Given the description of an element on the screen output the (x, y) to click on. 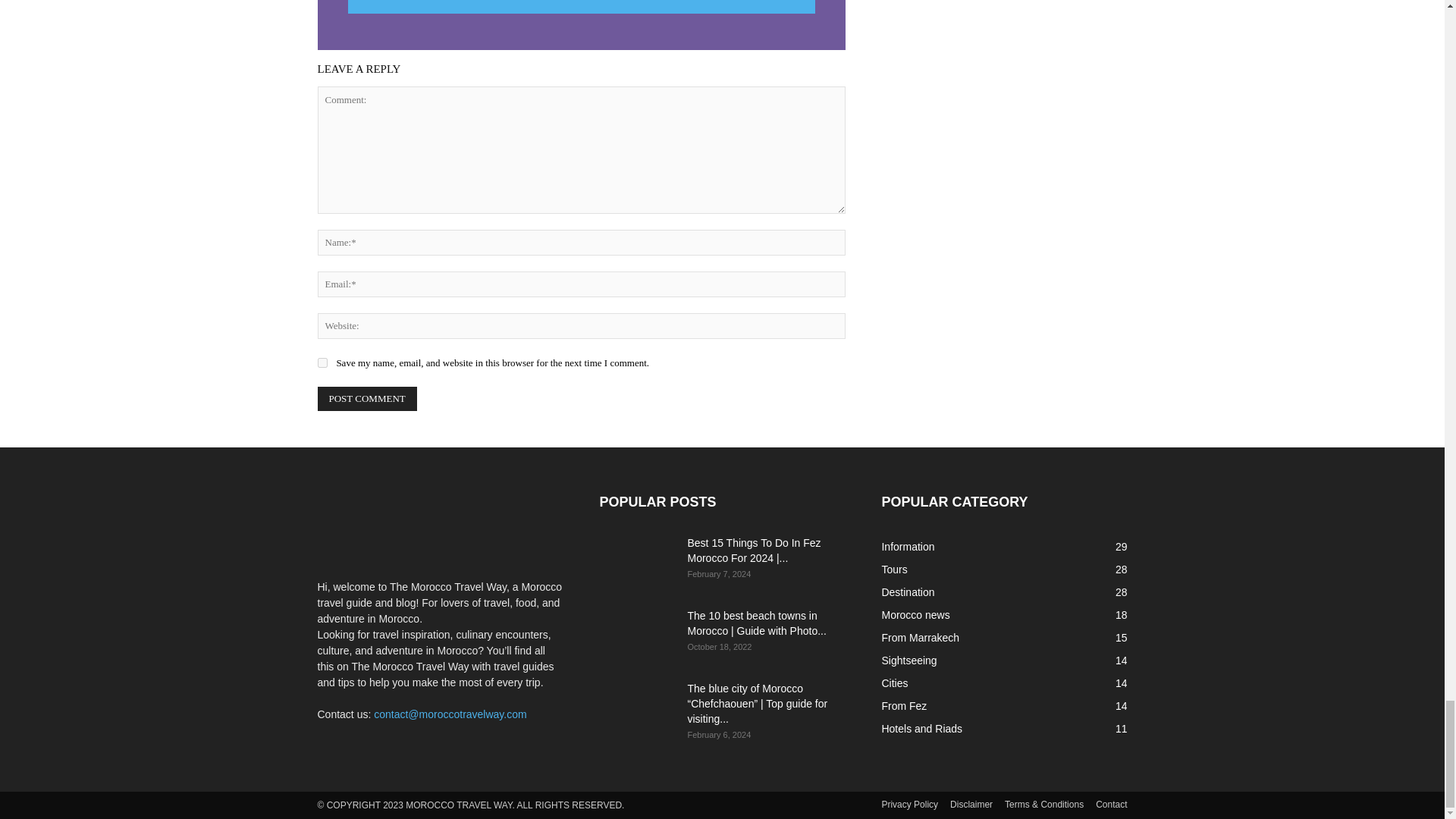
Post Comment (366, 398)
yes (321, 362)
